Given the description of an element on the screen output the (x, y) to click on. 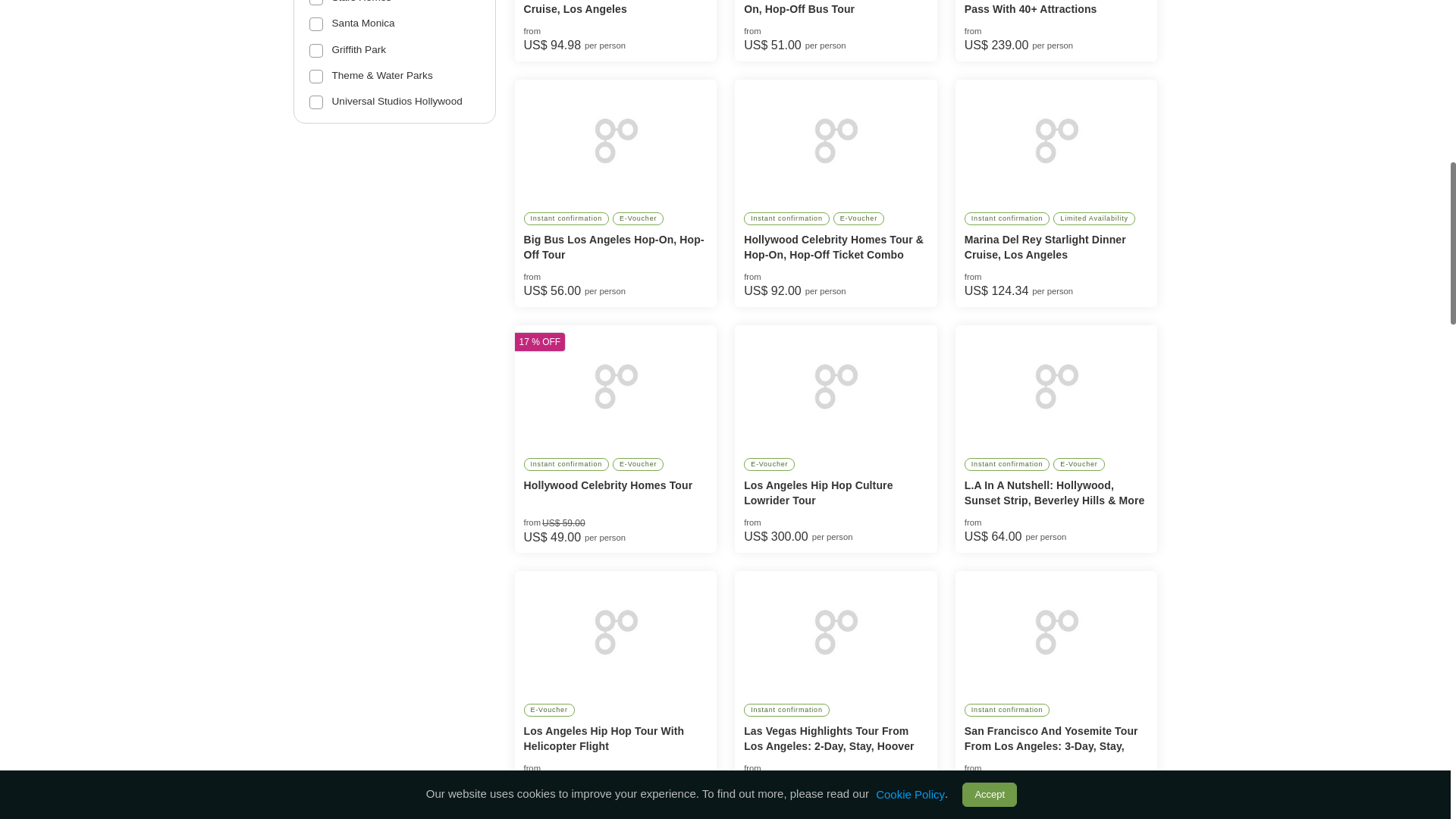
Disneyland Resort Hopper Ticket (1056, 817)
Hollywood Night Tour with Live Guide (836, 817)
Marina del Rey Starlight Dinner Cruise, Los Angeles (1056, 139)
Los Angeles Hip Hop Tour with Helicopter Flight (614, 631)
Los Angeles Hip Hop Culture Lowrider Tour (836, 385)
Hollywood Celebrity Homes Tour (614, 385)
Big Bus Los Angeles Hop-on, Hop-off Tour (614, 139)
